Given the description of an element on the screen output the (x, y) to click on. 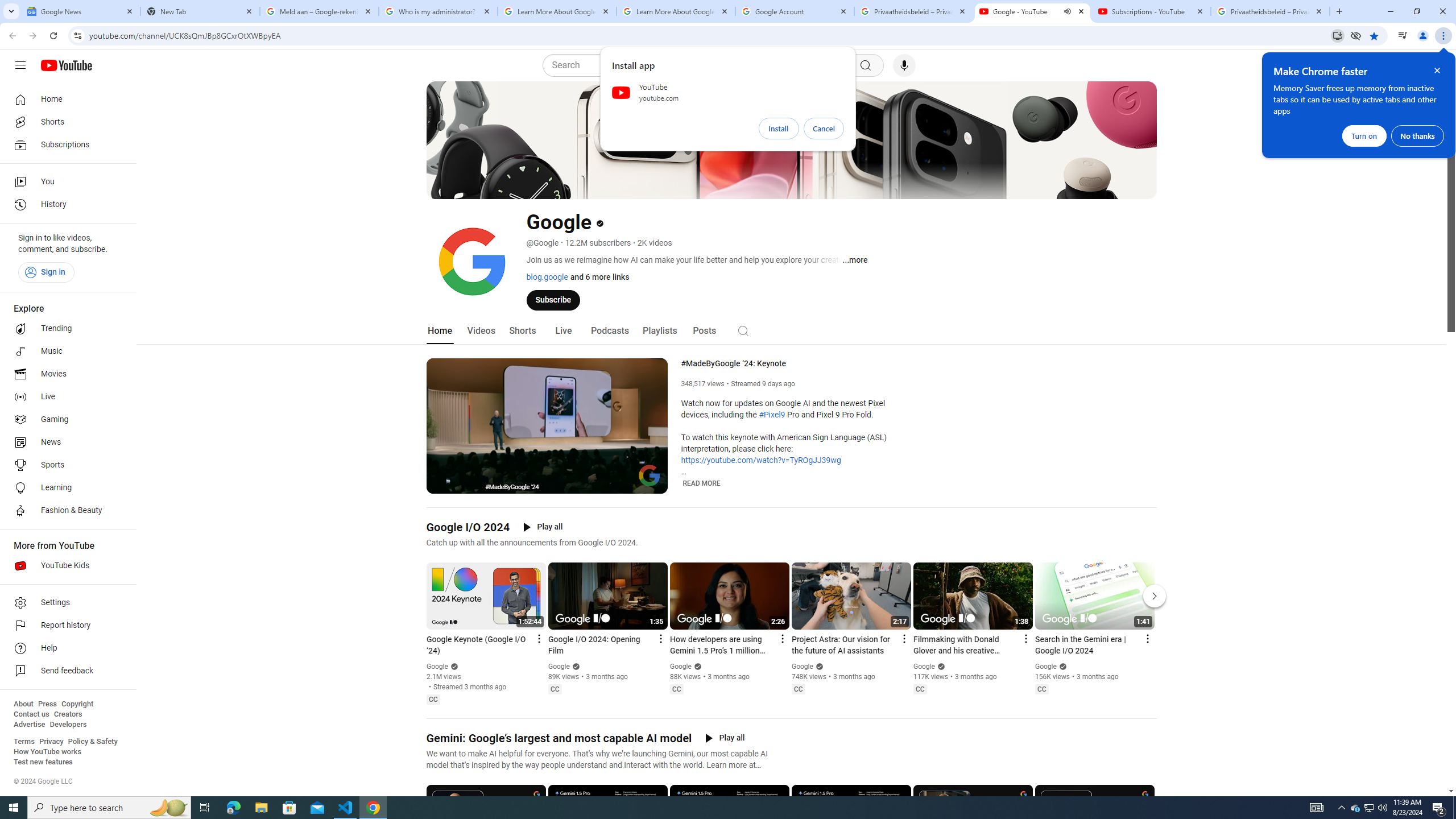
Full screen (f) (650, 483)
MadeByGoogle '24: Intro (560, 483)
Pause (k) (443, 483)
History (64, 204)
Posts (703, 330)
Closed captions (1041, 688)
Shorts (521, 330)
Guide (20, 65)
Developers (68, 724)
